Given the description of an element on the screen output the (x, y) to click on. 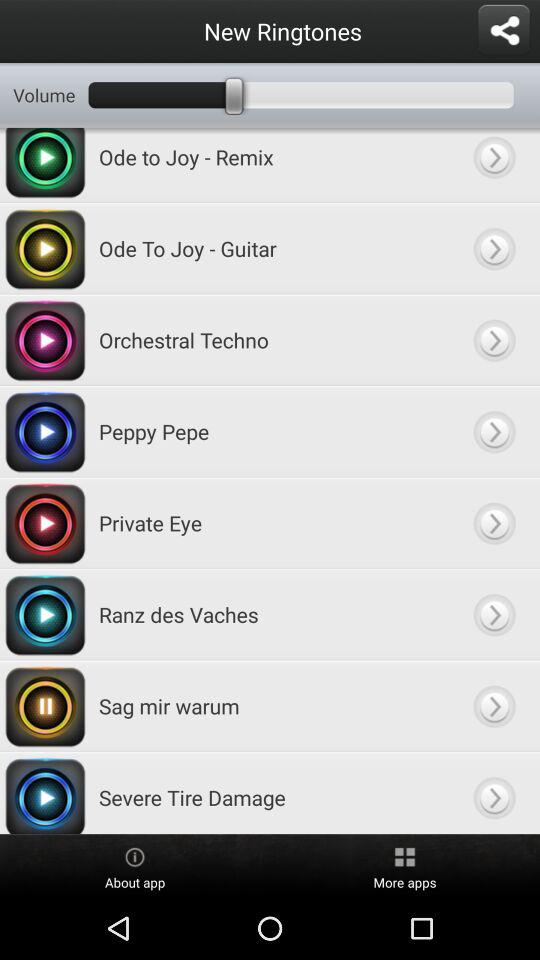
shear (503, 31)
